Given the description of an element on the screen output the (x, y) to click on. 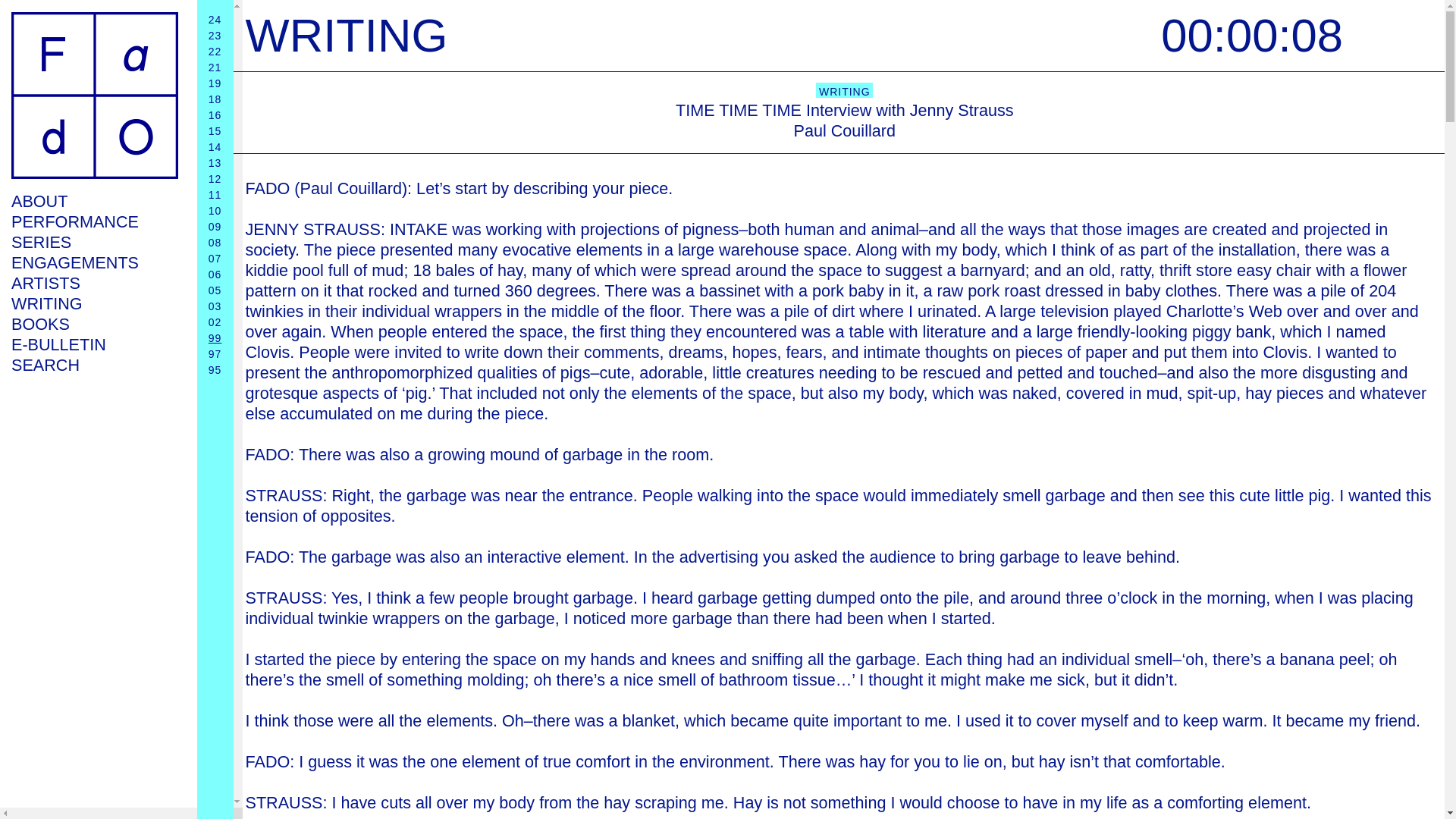
14 (215, 146)
18 (215, 99)
24 (215, 19)
ABOUT (94, 200)
08 (215, 242)
16 (215, 114)
13 (215, 162)
WRITING (94, 303)
BOOKS (94, 323)
21 (215, 67)
07 (215, 258)
E-BULLETIN (94, 344)
19 (215, 82)
SERIES (94, 241)
09 (215, 226)
